Given the description of an element on the screen output the (x, y) to click on. 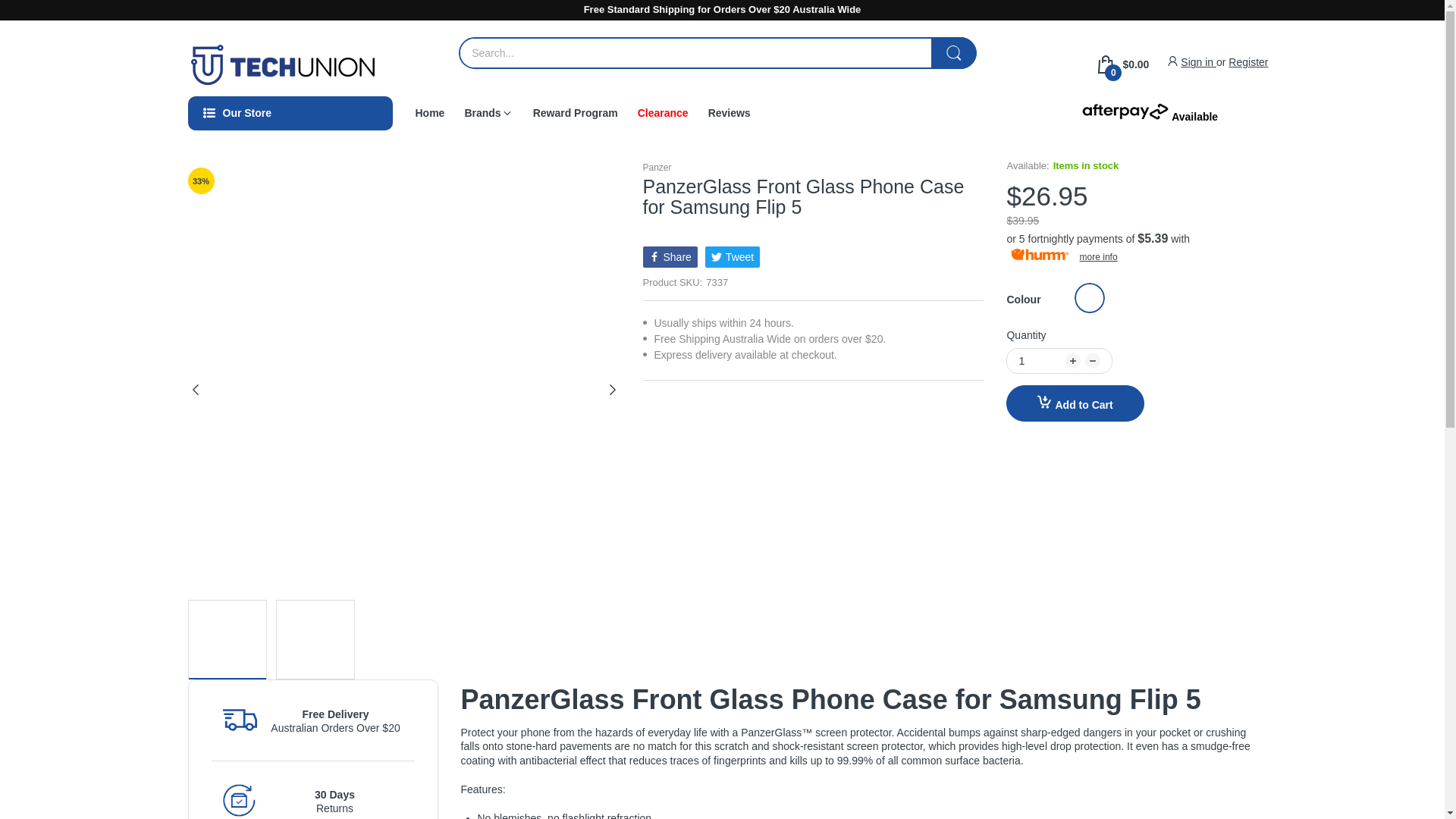
electro-user-icon (1172, 61)
PanzerGlass Front Glass Phone Case for Samsung Flip 5 (314, 639)
PanzerGlass Front Glass Phone Case for Samsung Flip 5 (225, 639)
Brands (482, 112)
electro-track-order-icon (239, 719)
Reviews (729, 112)
Add to Cart (1074, 402)
1 (1039, 360)
Clearance (662, 112)
Reward Program (574, 112)
